Given the description of an element on the screen output the (x, y) to click on. 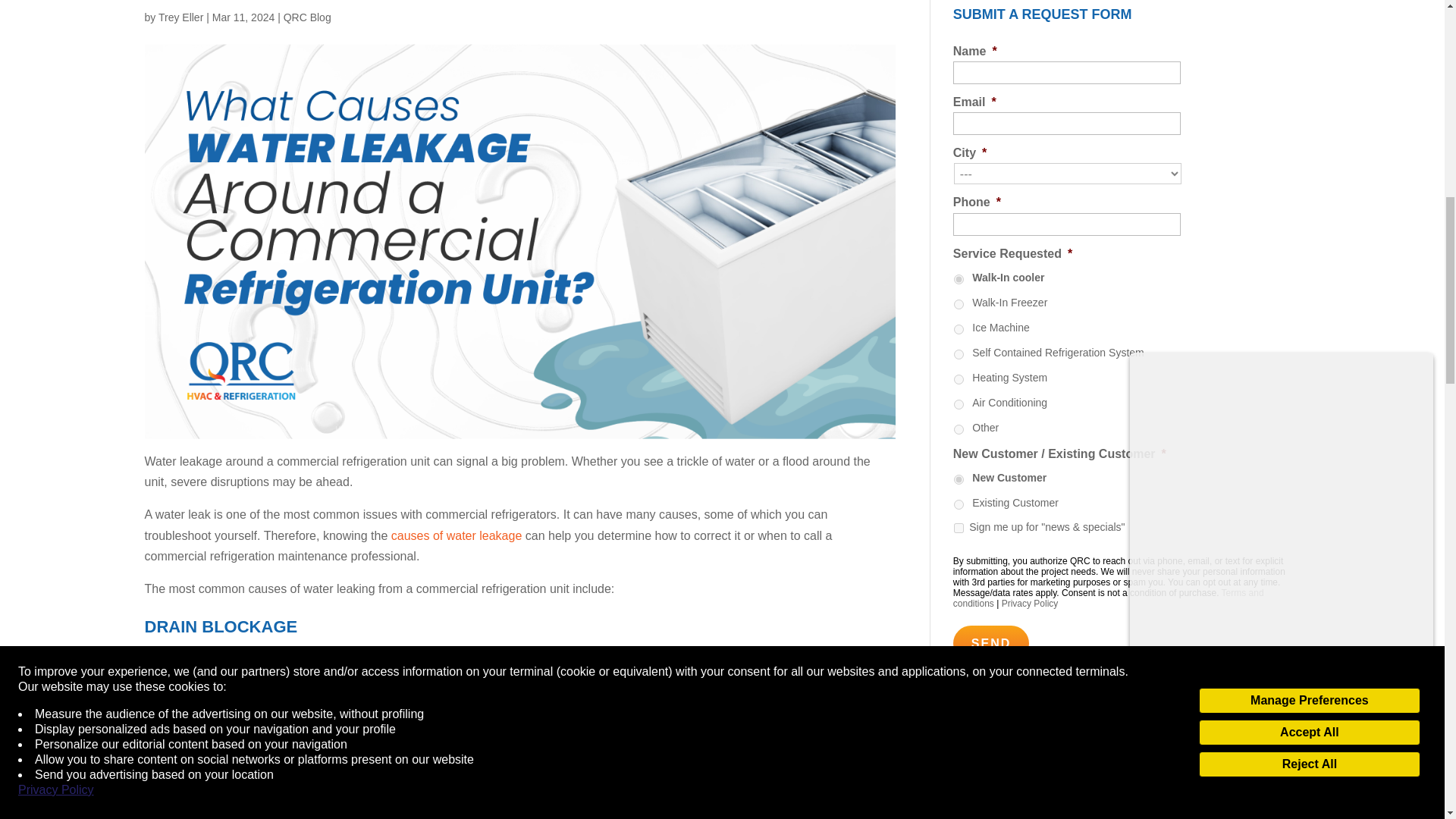
Air Conditioning (958, 404)
Send (991, 642)
Self Contained Refrigeration System (958, 354)
Walk-In Freezer (958, 304)
New Customer (958, 479)
Ice Machine (958, 329)
Other (958, 429)
Existing Customer (958, 504)
Heating System (958, 379)
Walk-In cooler (958, 279)
